Given the description of an element on the screen output the (x, y) to click on. 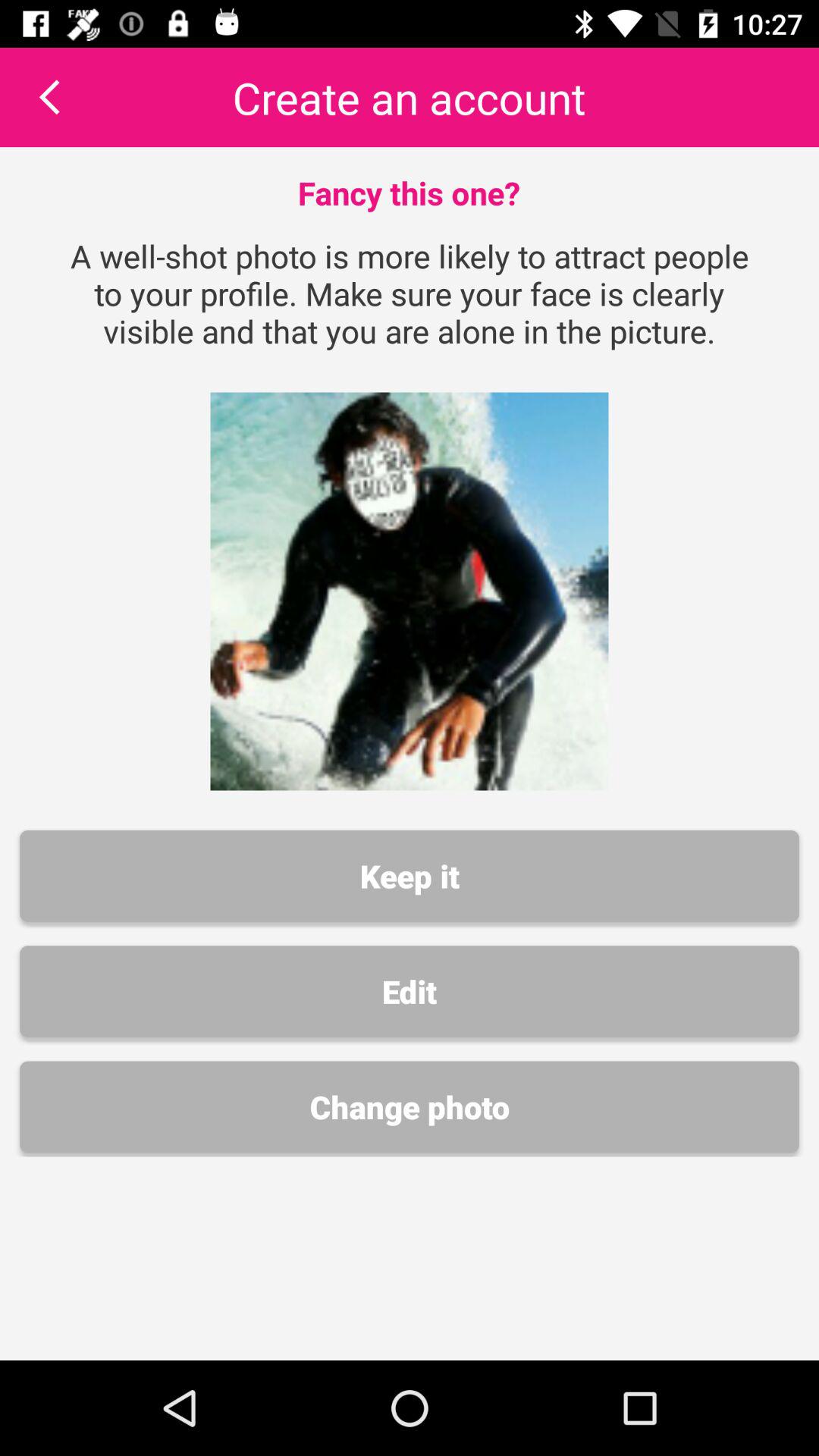
launch the edit (409, 991)
